Given the description of an element on the screen output the (x, y) to click on. 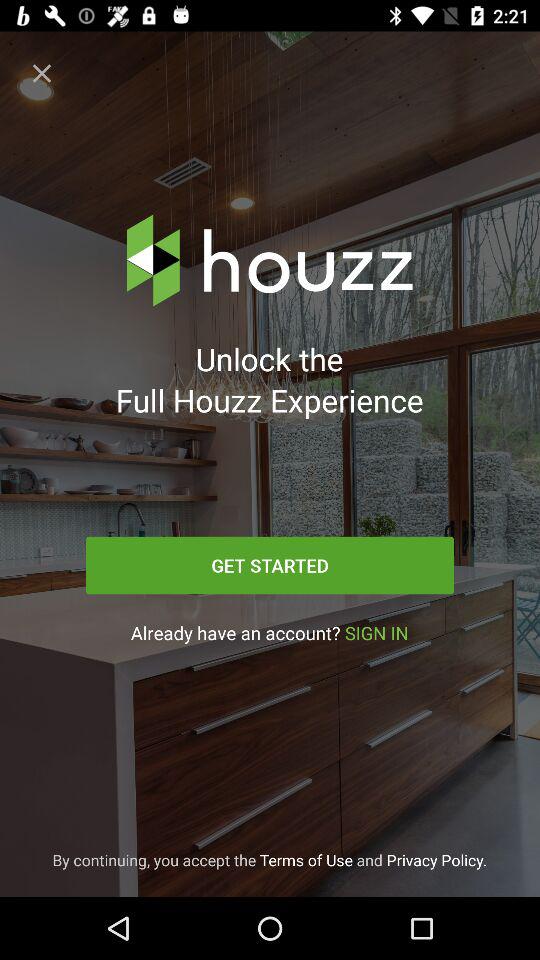
press the icon at the top left corner (41, 73)
